Given the description of an element on the screen output the (x, y) to click on. 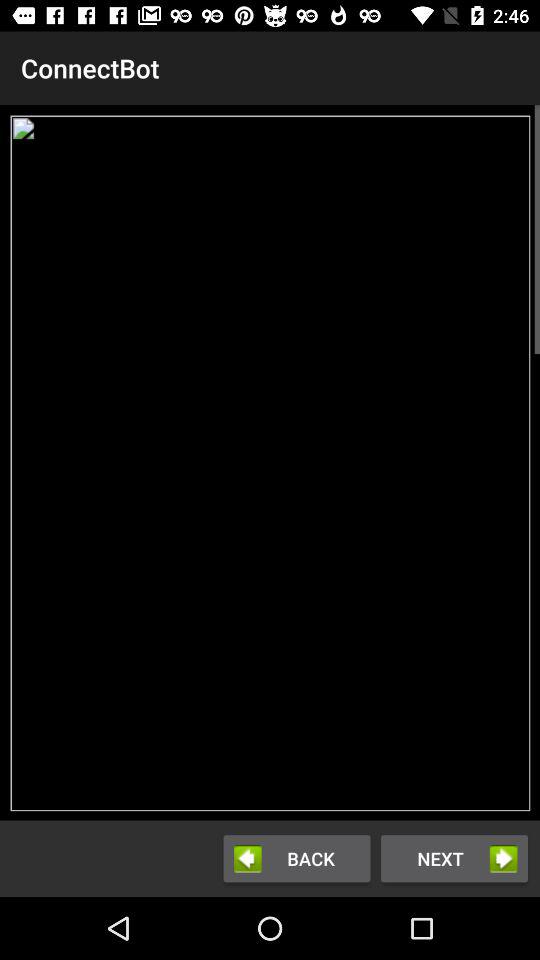
turn off the next item (454, 858)
